Given the description of an element on the screen output the (x, y) to click on. 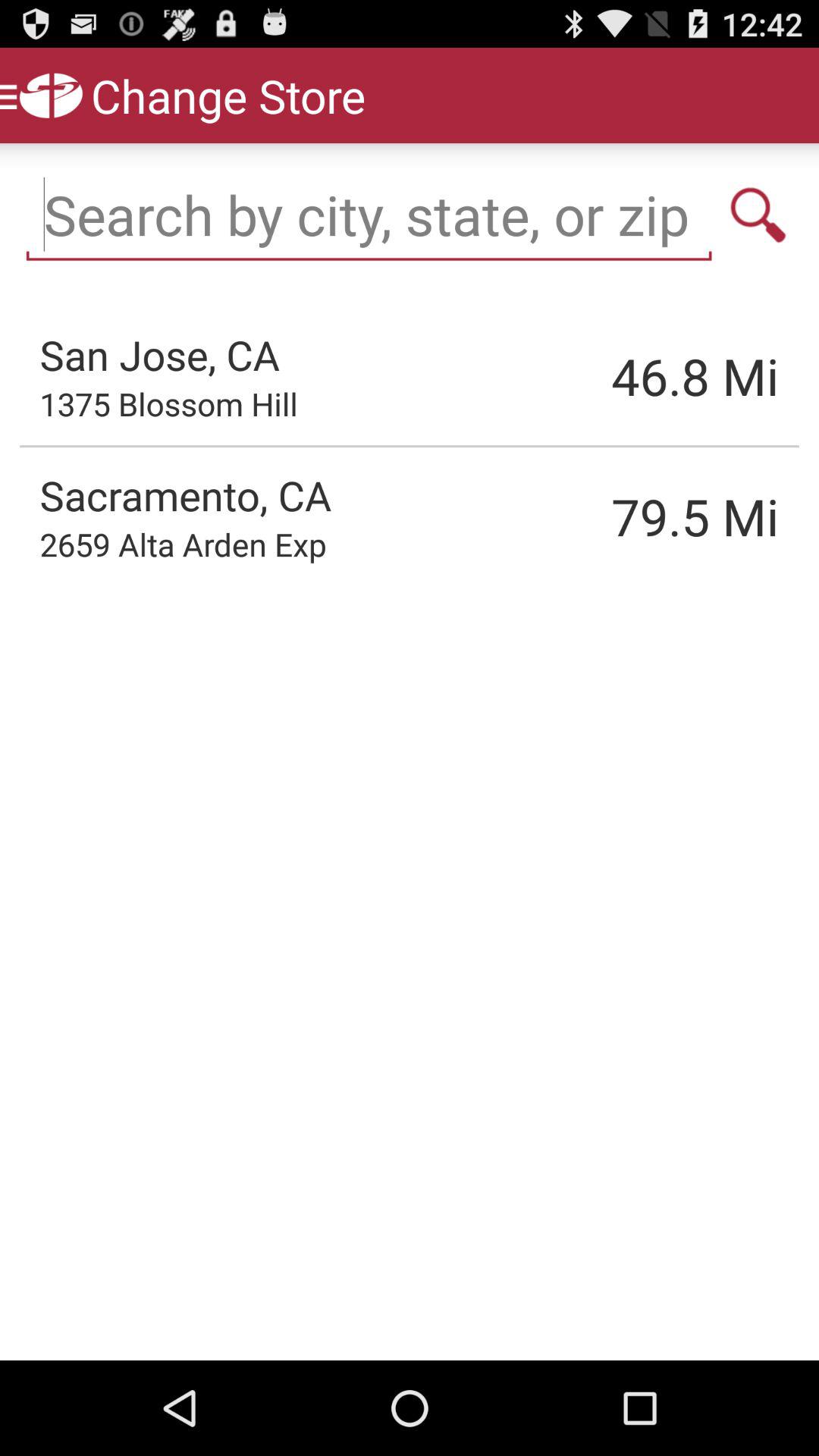
turn off the app to the left of the 46.8 item (159, 354)
